Given the description of an element on the screen output the (x, y) to click on. 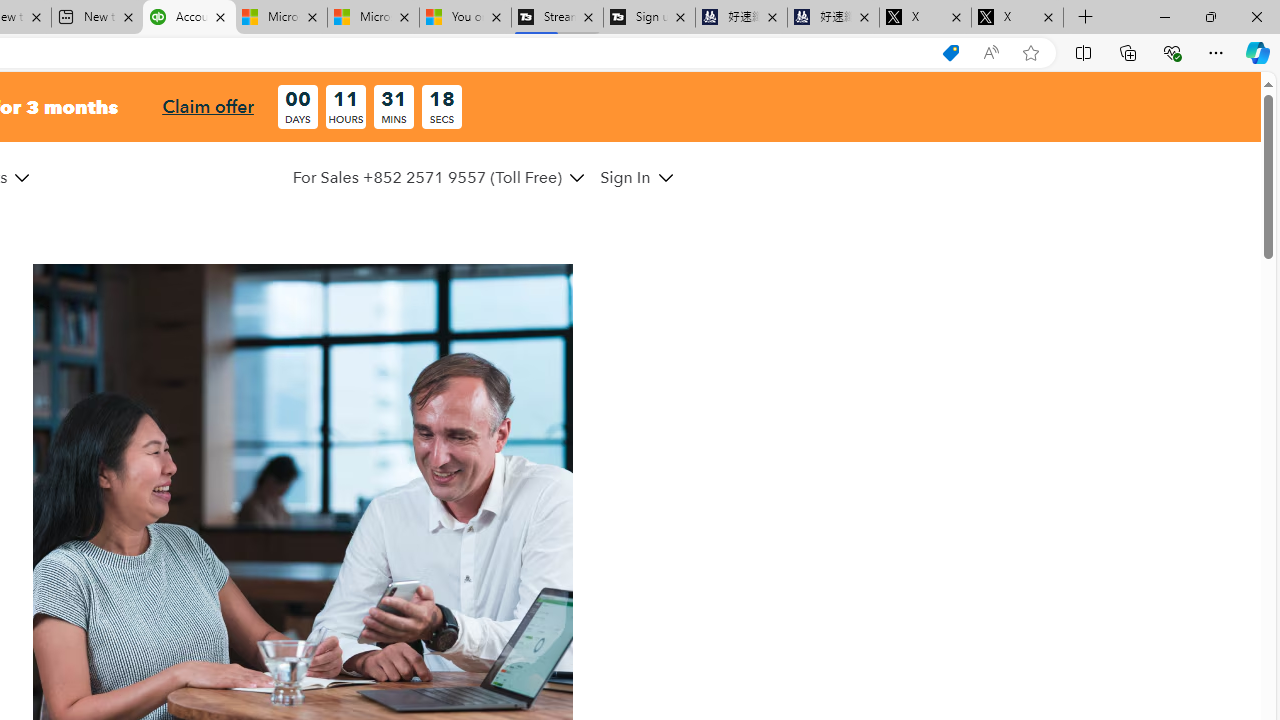
Class: MenuItem_dDown__f585abf6 MenuItem_white__f585abf6 (665, 178)
Claim offer (207, 106)
Sign In (636, 177)
Close (1256, 16)
New tab (97, 17)
Copilot (Ctrl+Shift+.) (1258, 52)
New Tab (1085, 17)
Microsoft Start Sports (280, 17)
Add this page to favorites (Ctrl+D) (1030, 53)
Accounting Software | QuickBooks Hong Kong (189, 17)
Split screen (1083, 52)
